Given the description of an element on the screen output the (x, y) to click on. 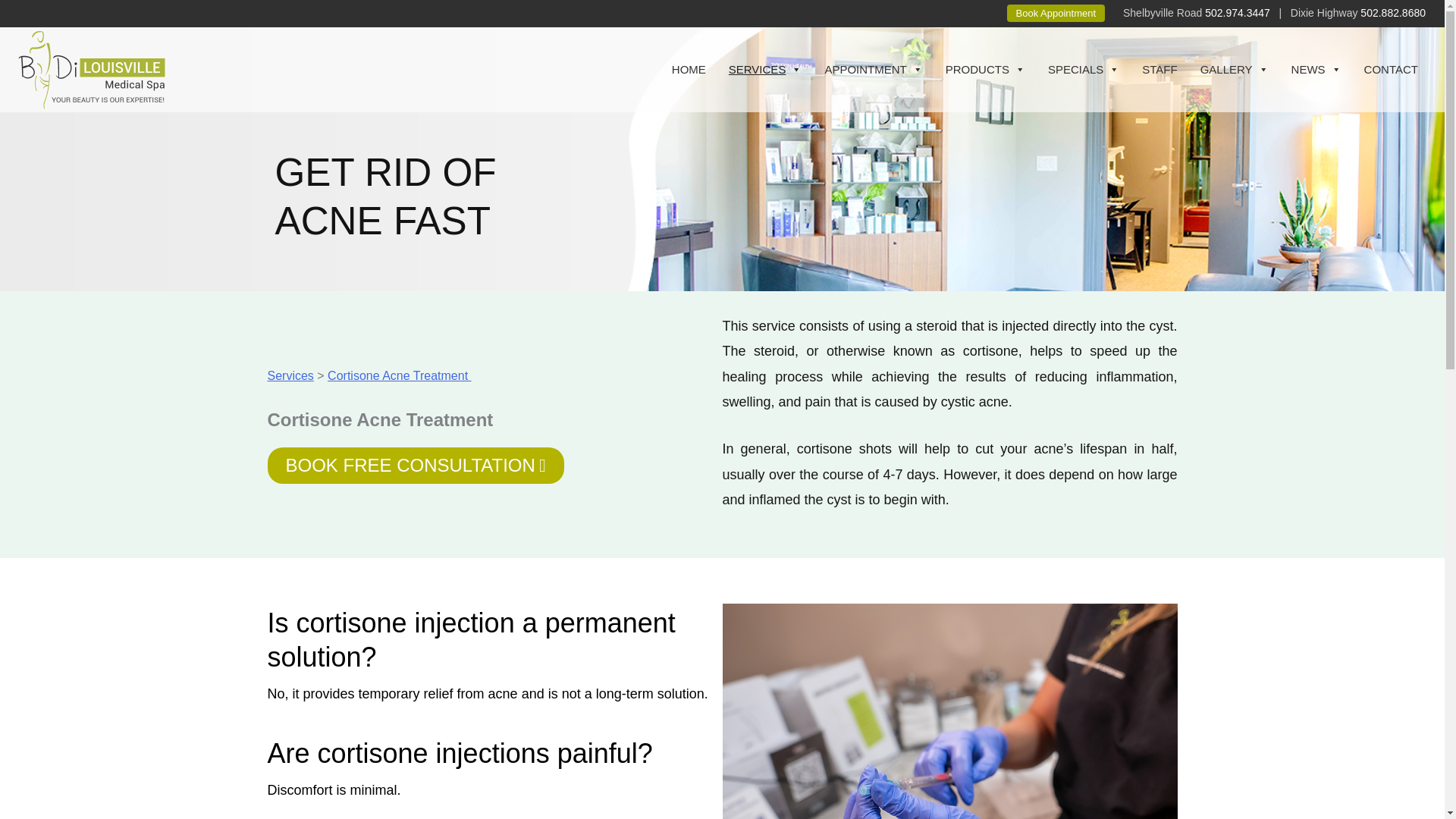
APPOINTMENT (872, 69)
502.882.8680 (1392, 12)
502.974.3447 (1237, 12)
PRODUCTS (985, 69)
HOME (689, 69)
Book Appointment (1056, 13)
SERVICES (765, 69)
